Given the description of an element on the screen output the (x, y) to click on. 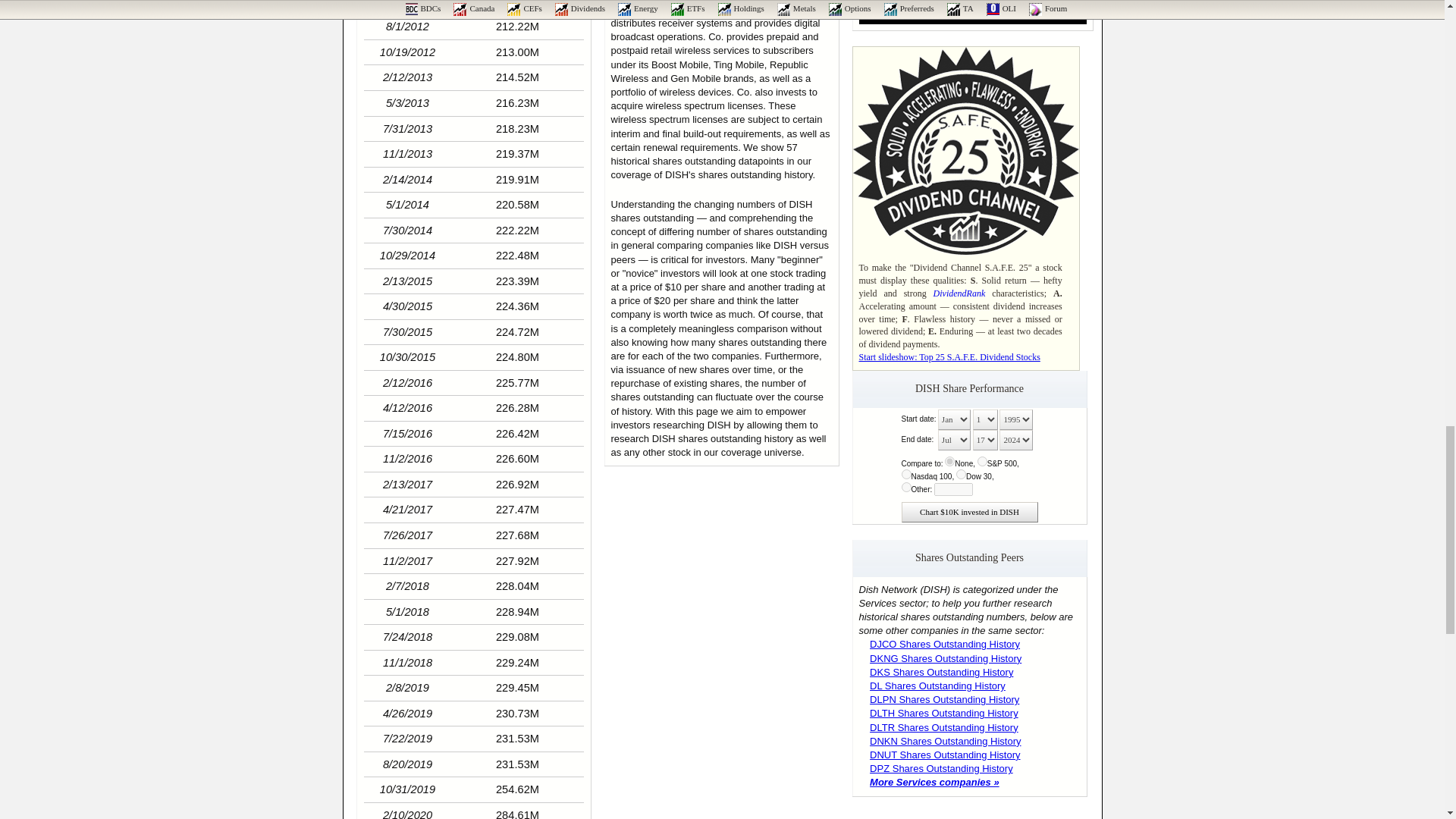
SPY (981, 461)
other (906, 487)
DIA (961, 474)
QQQQ (906, 474)
none (949, 461)
